Given the description of an element on the screen output the (x, y) to click on. 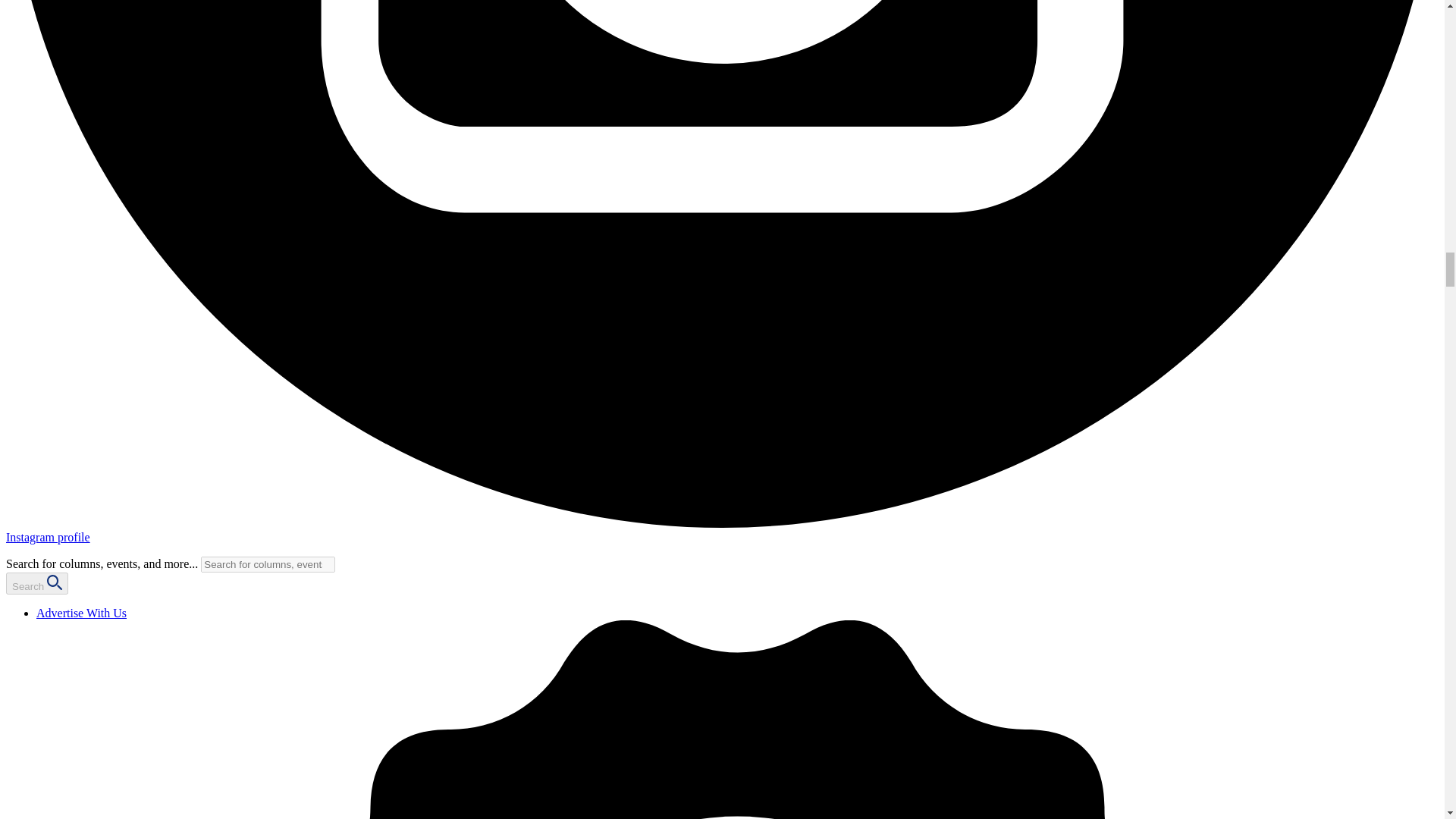
Advertise With Us (81, 612)
Search (36, 583)
